Given the description of an element on the screen output the (x, y) to click on. 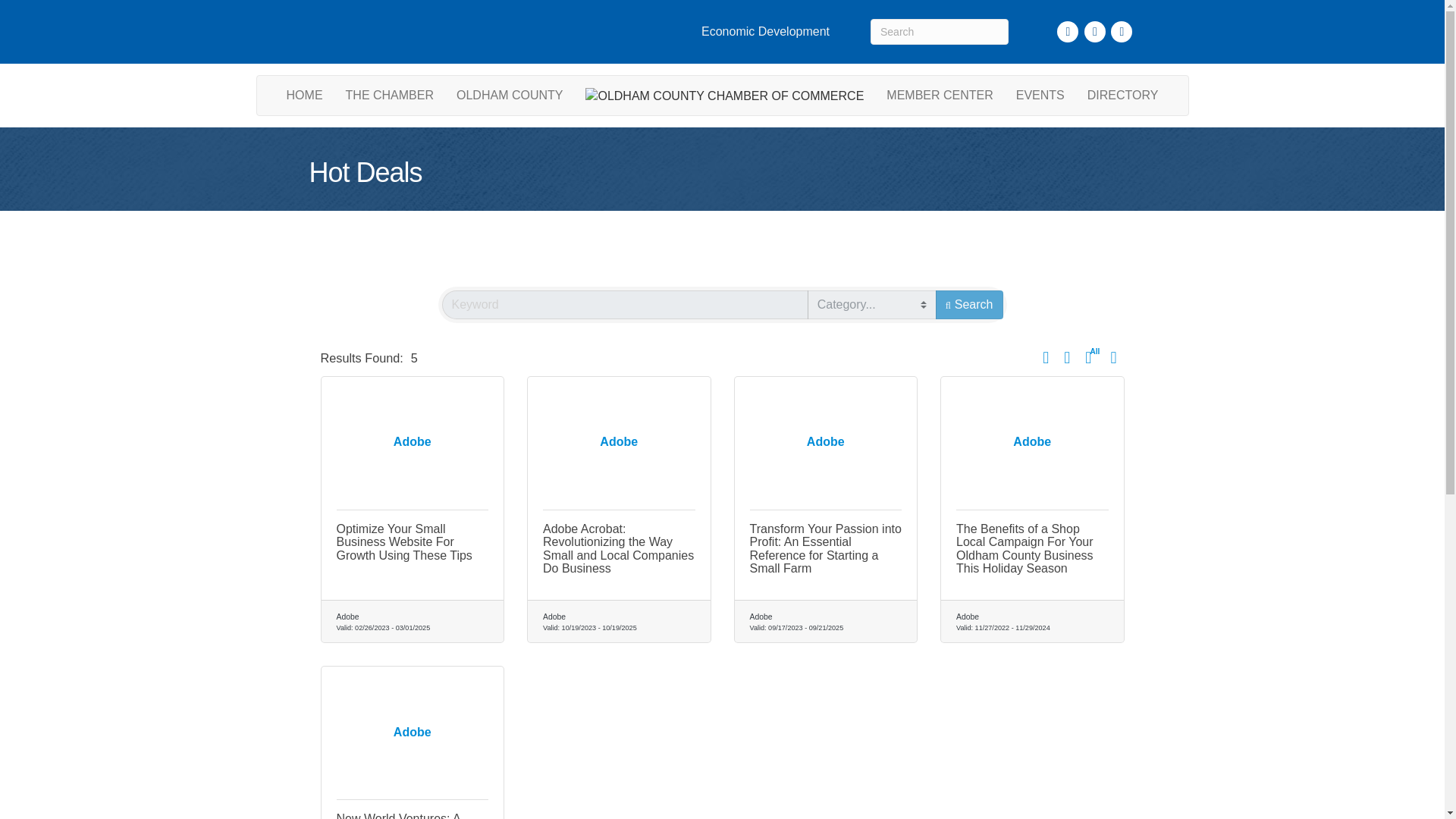
Economic Development (765, 31)
THE CHAMBER (389, 95)
HOME (304, 95)
Type and press Enter to search. (939, 31)
